Given the description of an element on the screen output the (x, y) to click on. 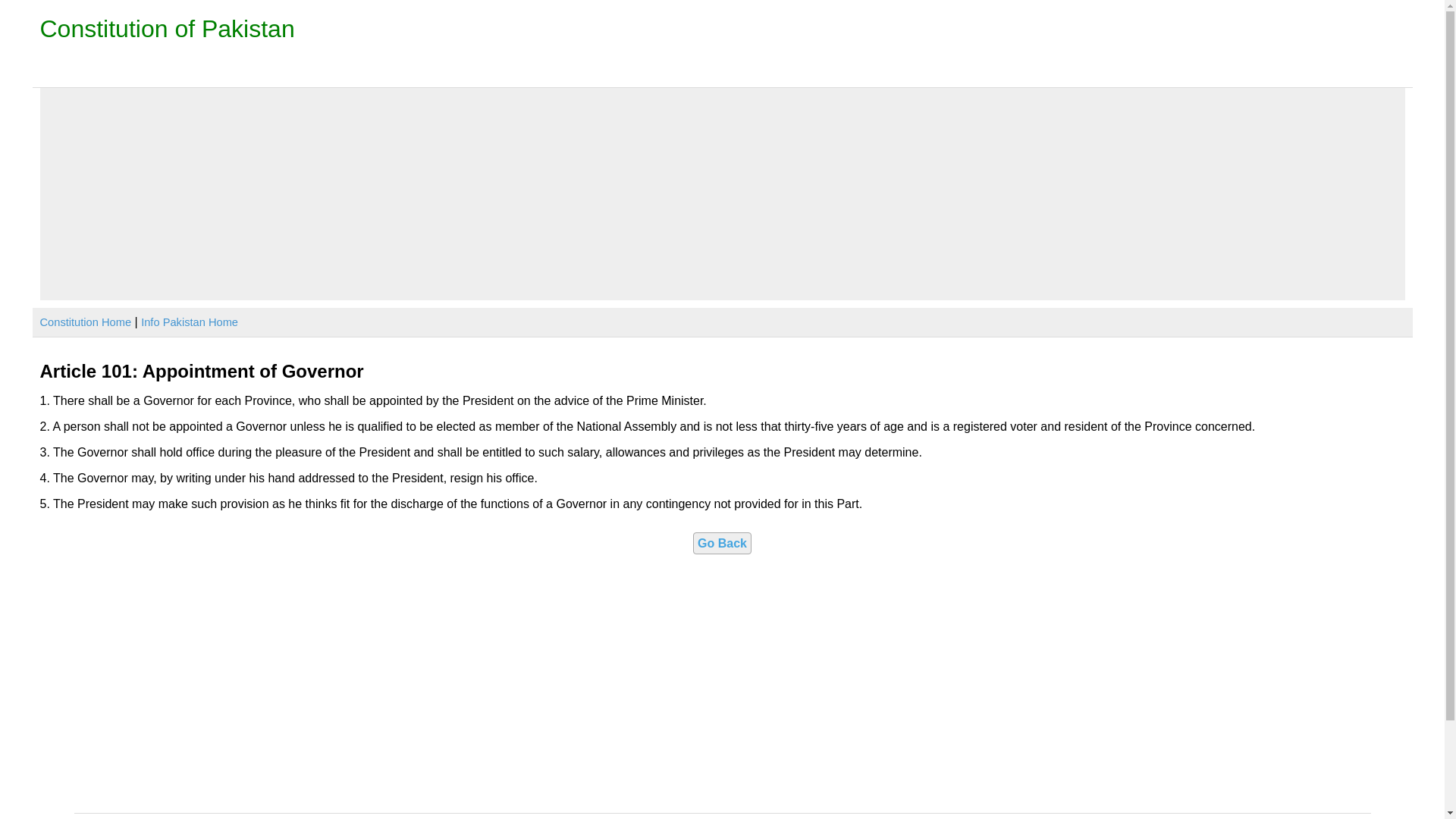
Constitution Home (85, 322)
Info Pakistan Home (189, 322)
Go Back (722, 543)
